Given the description of an element on the screen output the (x, y) to click on. 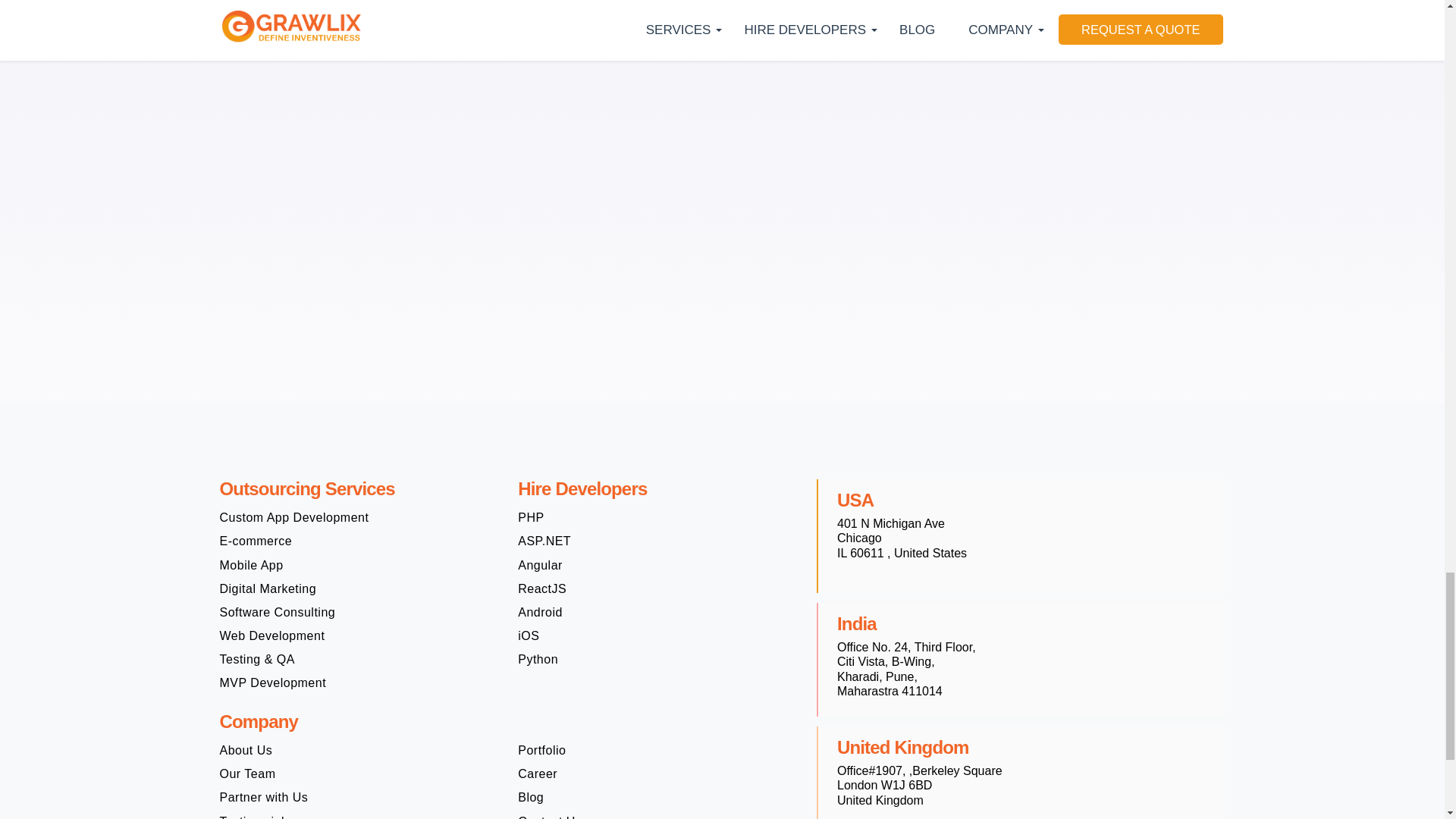
Hire PHP Developer (530, 517)
Software Testing Company (257, 658)
Mobile App Development Provider Company (251, 564)
Hire Android Developer (540, 612)
Ecommerce Development Provider Company (255, 540)
Hire Angular JS Developer (540, 564)
Digital Marketing Services Provider Company (268, 588)
Internet of Things Development Provider Company (272, 682)
Custom Software Development Provider Company (294, 517)
Hire ASP.NET Developer (544, 540)
Software Consulting Services Provider Company (277, 612)
Hire iPhone Developer (528, 635)
Hire React JS Developer (542, 588)
Website Development Provider Company (271, 635)
